Given the description of an element on the screen output the (x, y) to click on. 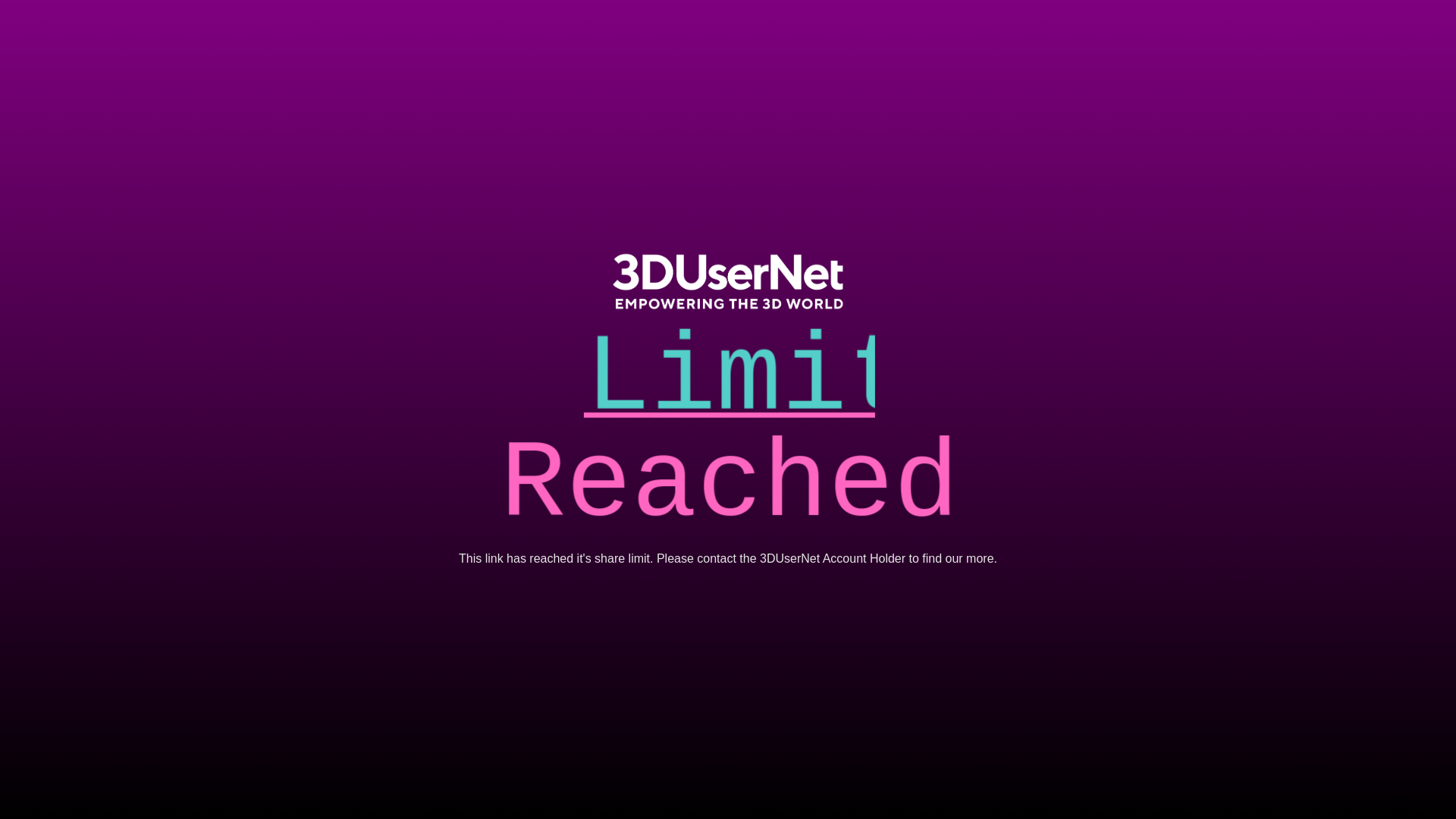
3DUserNet.com Element type: hover (727, 280)
